Given the description of an element on the screen output the (x, y) to click on. 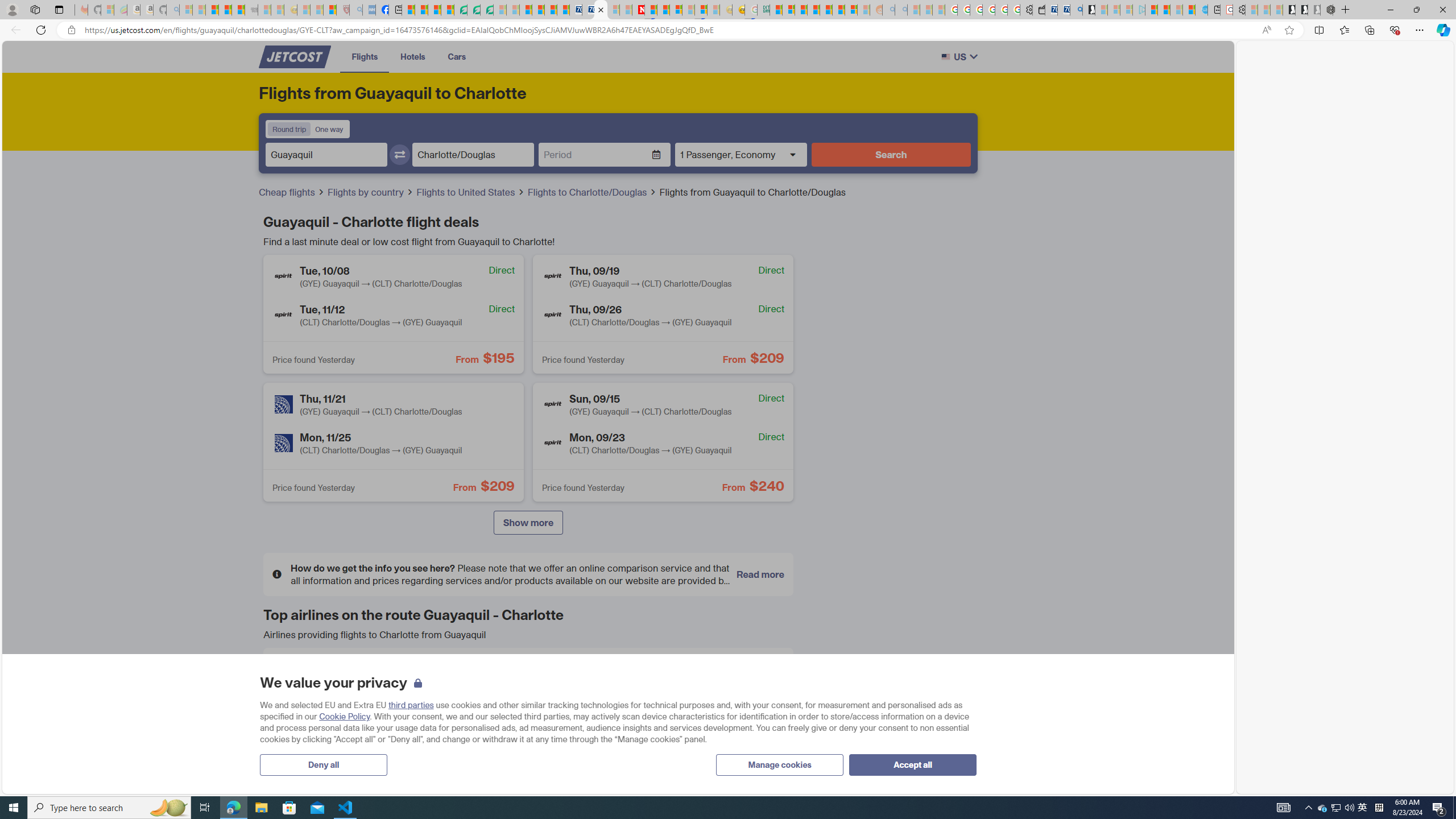
Search (890, 154)
Utah sues federal government - Search - Sleeping (900, 9)
Wallet (1038, 9)
American Airlines American Airlines (356, 675)
Manage cookies (779, 764)
Hotels (412, 56)
Kinda Frugal - MSN (838, 9)
Flights (365, 56)
